Given the description of an element on the screen output the (x, y) to click on. 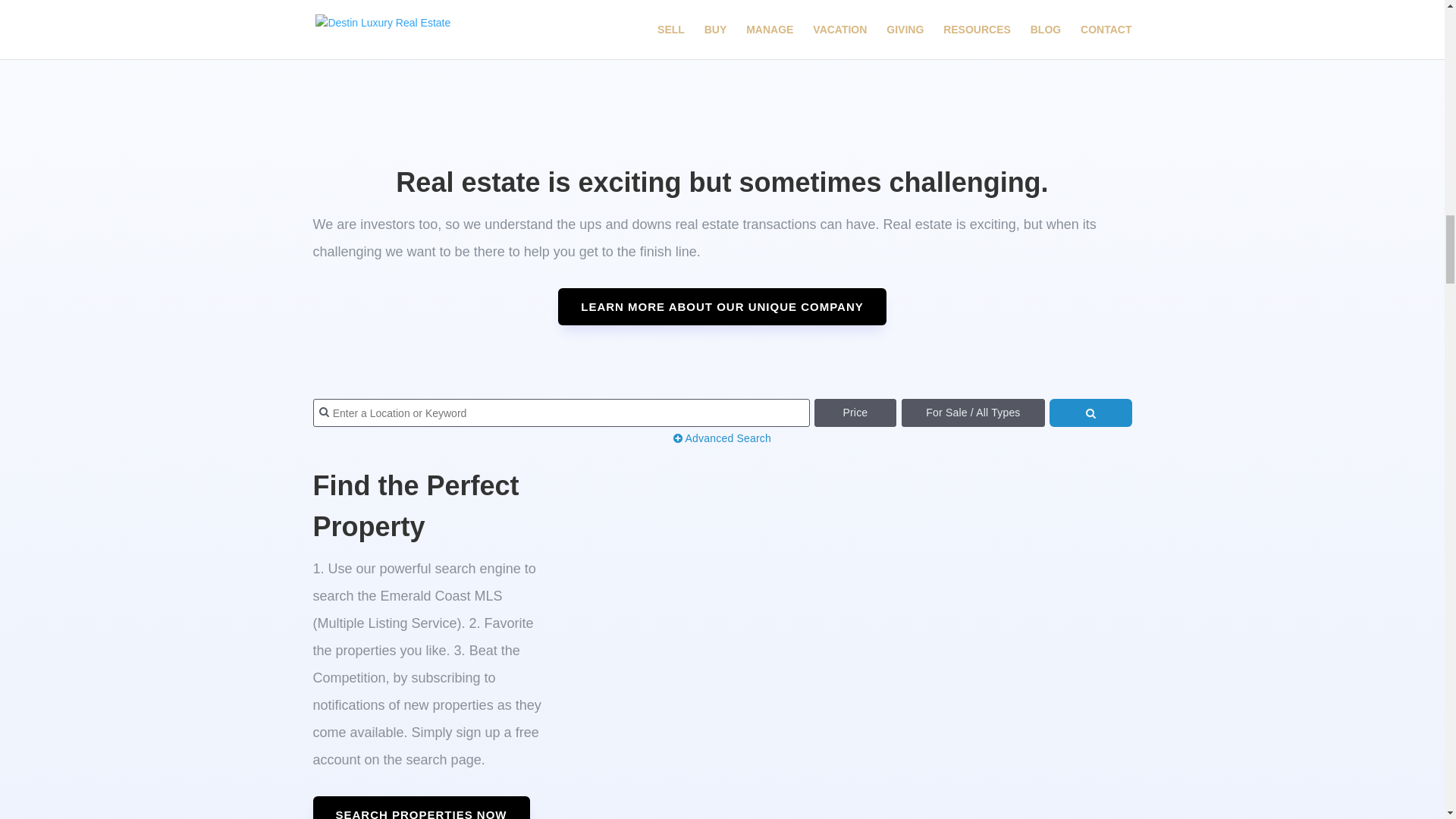
Learn How Destin Luxury Can Help You in 90 Seconds (722, 48)
LEARN MORE ABOUT OUR UNIQUE COMPANY (721, 306)
SEARCH PROPERTIES NOW (421, 807)
